Given the description of an element on the screen output the (x, y) to click on. 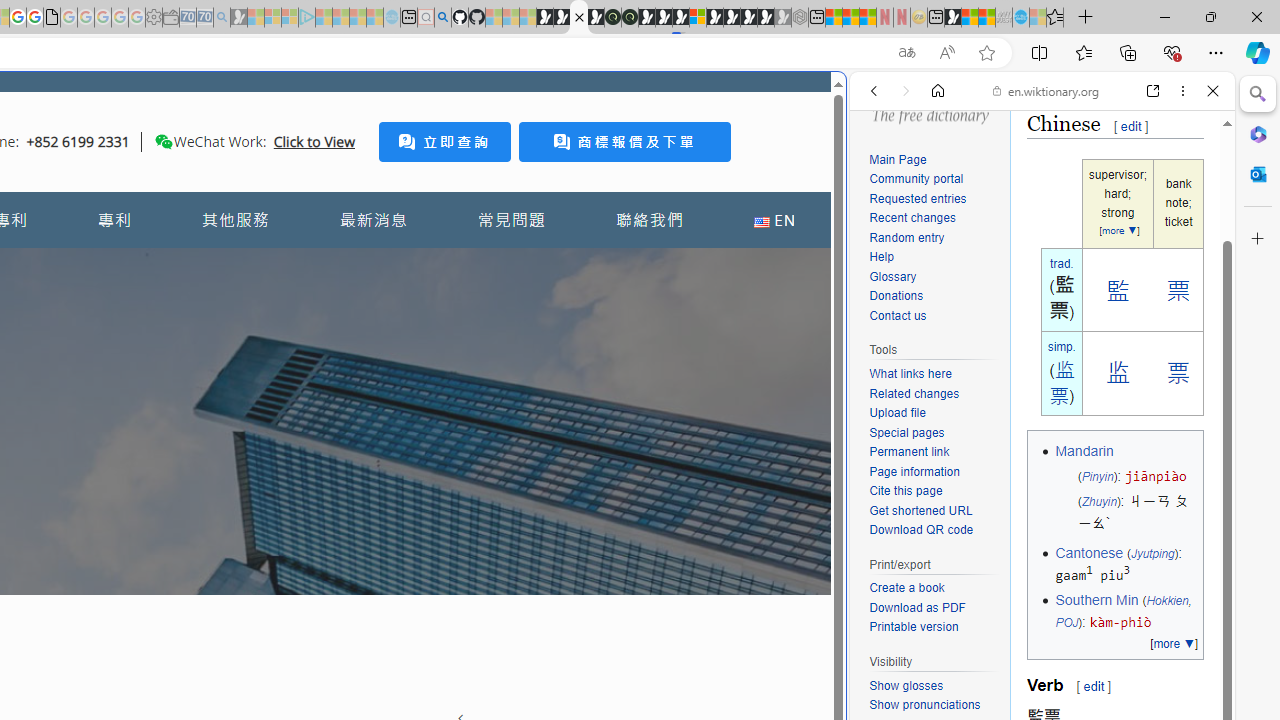
Download QR code (934, 530)
What links here (934, 375)
trad. (1061, 263)
Earth has six continents not seven, radical new study claims (986, 17)
Show glosses (906, 685)
Community portal (916, 179)
Hokkien (1167, 600)
